Given the description of an element on the screen output the (x, y) to click on. 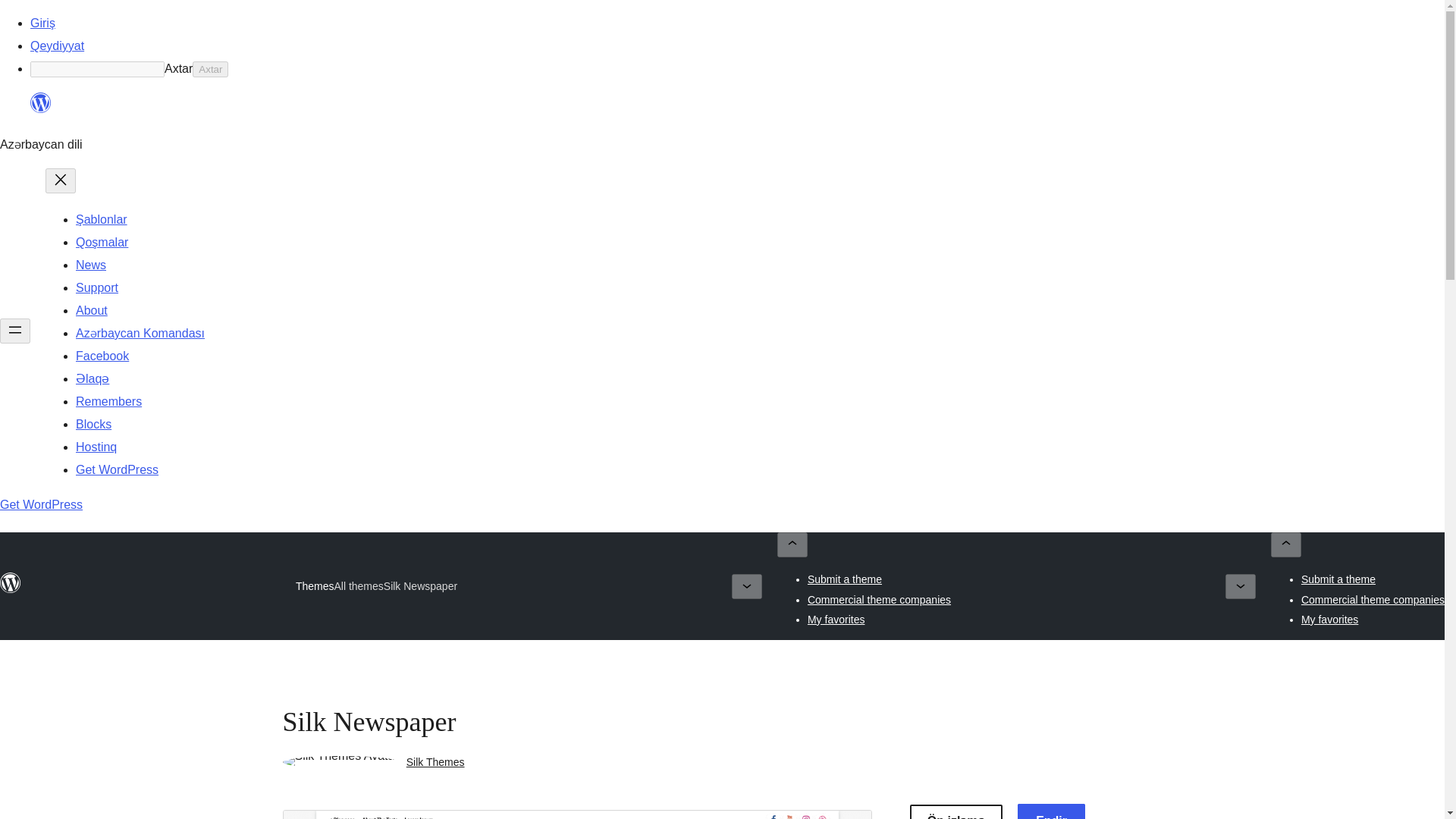
Get WordPress (41, 504)
Commercial theme companies (879, 598)
My favorites (1329, 619)
Submit a theme (1338, 579)
Support (96, 287)
Axtar (210, 68)
WordPress.org (40, 109)
Remembers (108, 400)
About (91, 309)
Silk Themes (435, 761)
